Given the description of an element on the screen output the (x, y) to click on. 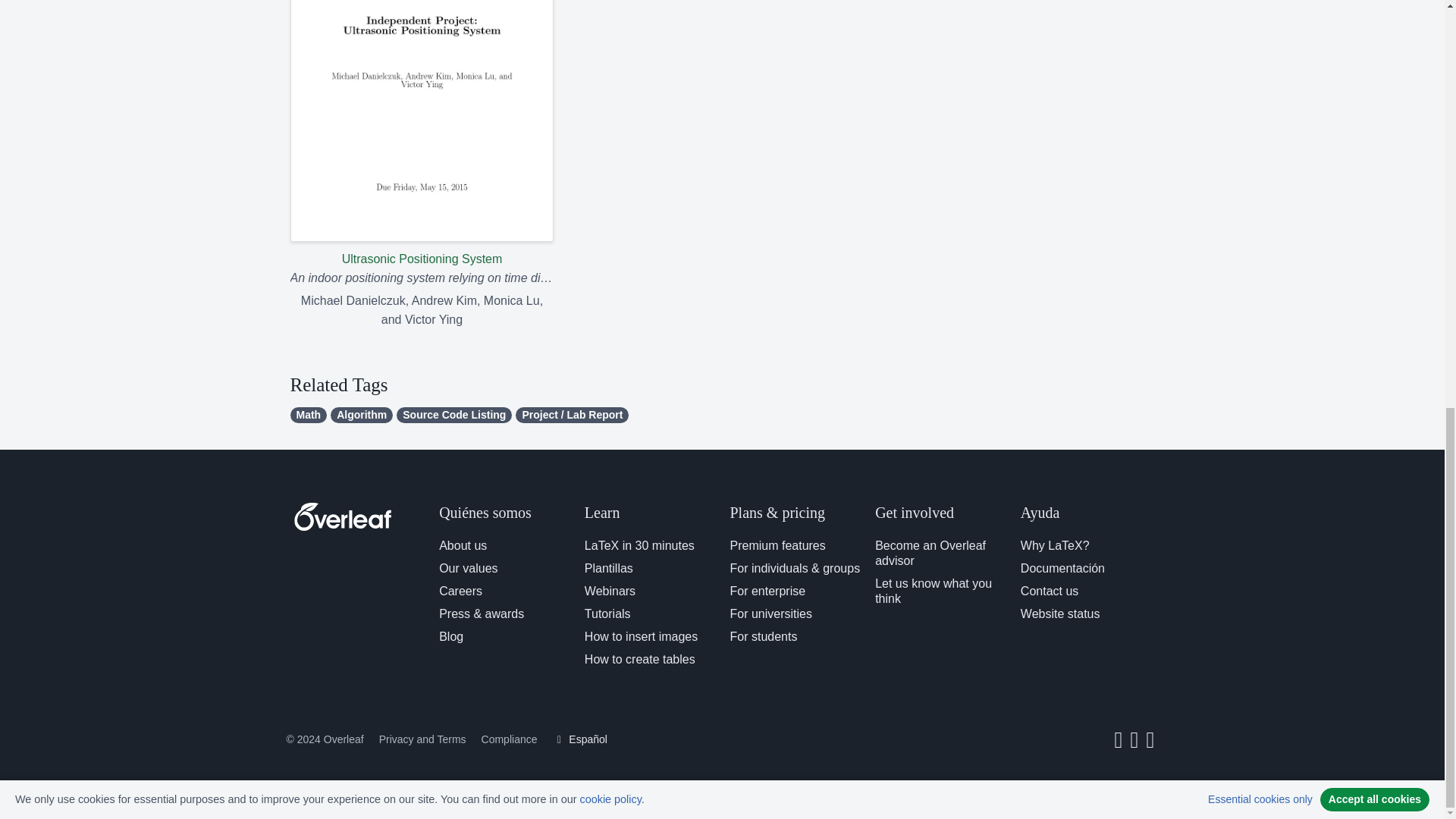
Source Code Listing (454, 415)
Blog (451, 635)
Our values (468, 567)
Plantillas (609, 567)
LaTeX in 30 minutes (639, 545)
About us (462, 545)
Ultrasonic Positioning System (421, 134)
Math (307, 415)
Tutorials (607, 613)
Careers (460, 590)
